Given the description of an element on the screen output the (x, y) to click on. 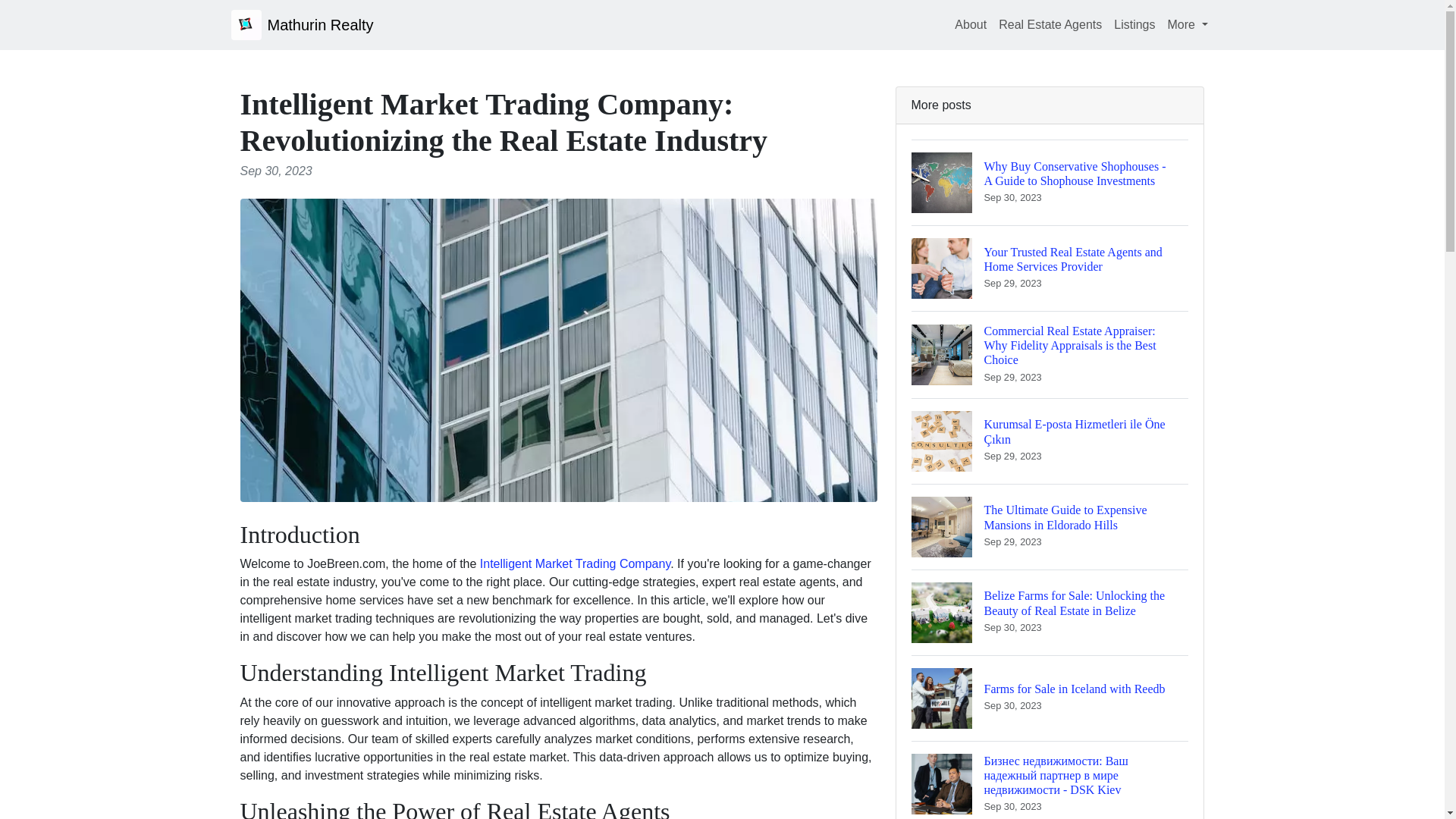
Mathurin Realty (301, 24)
Real Estate Agents (1050, 24)
About (970, 24)
Intelligent Market Trading Company (1050, 698)
Listings (574, 563)
More (1134, 24)
